Given the description of an element on the screen output the (x, y) to click on. 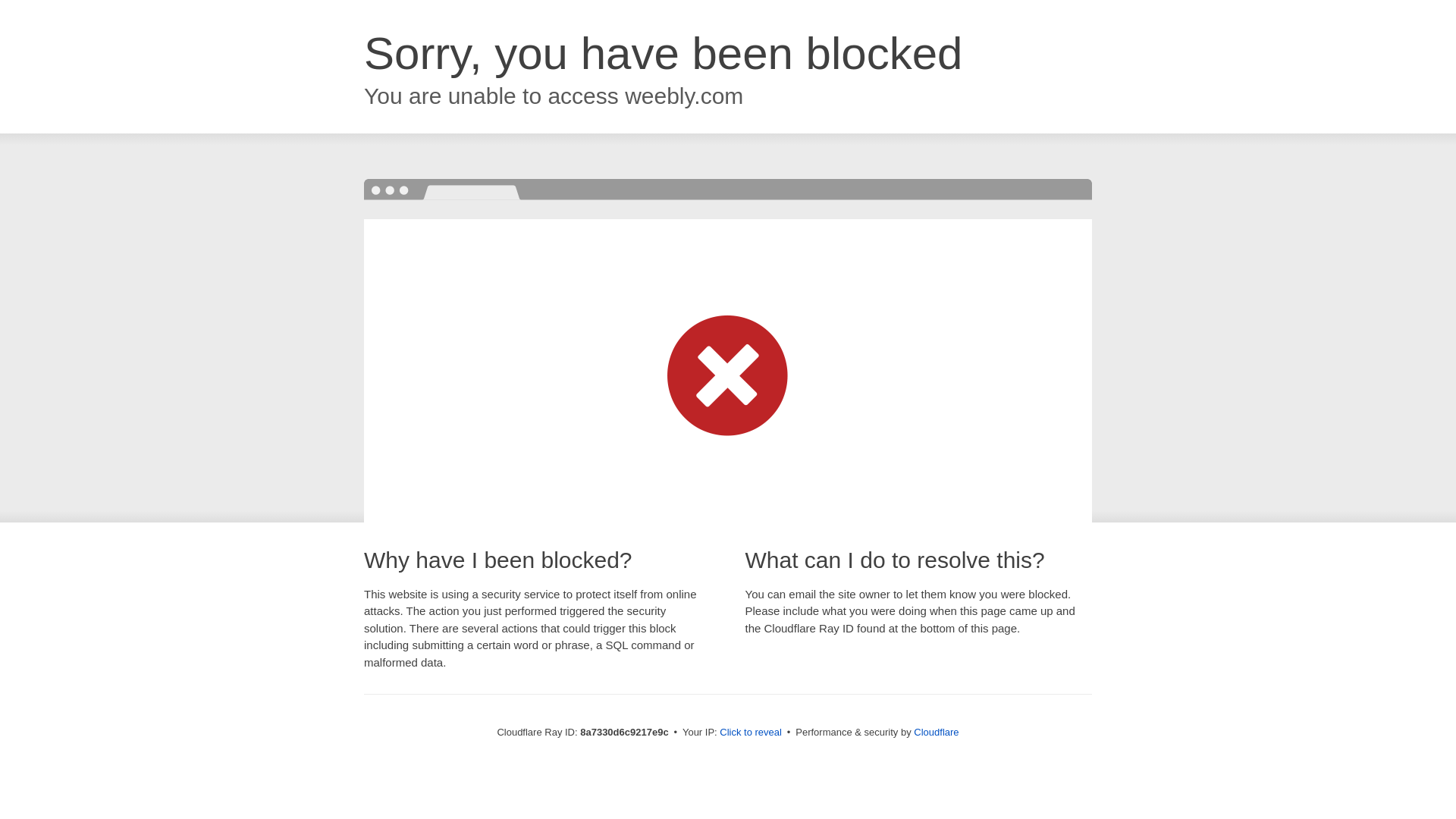
Cloudflare (936, 731)
Click to reveal (750, 732)
